Given the description of an element on the screen output the (x, y) to click on. 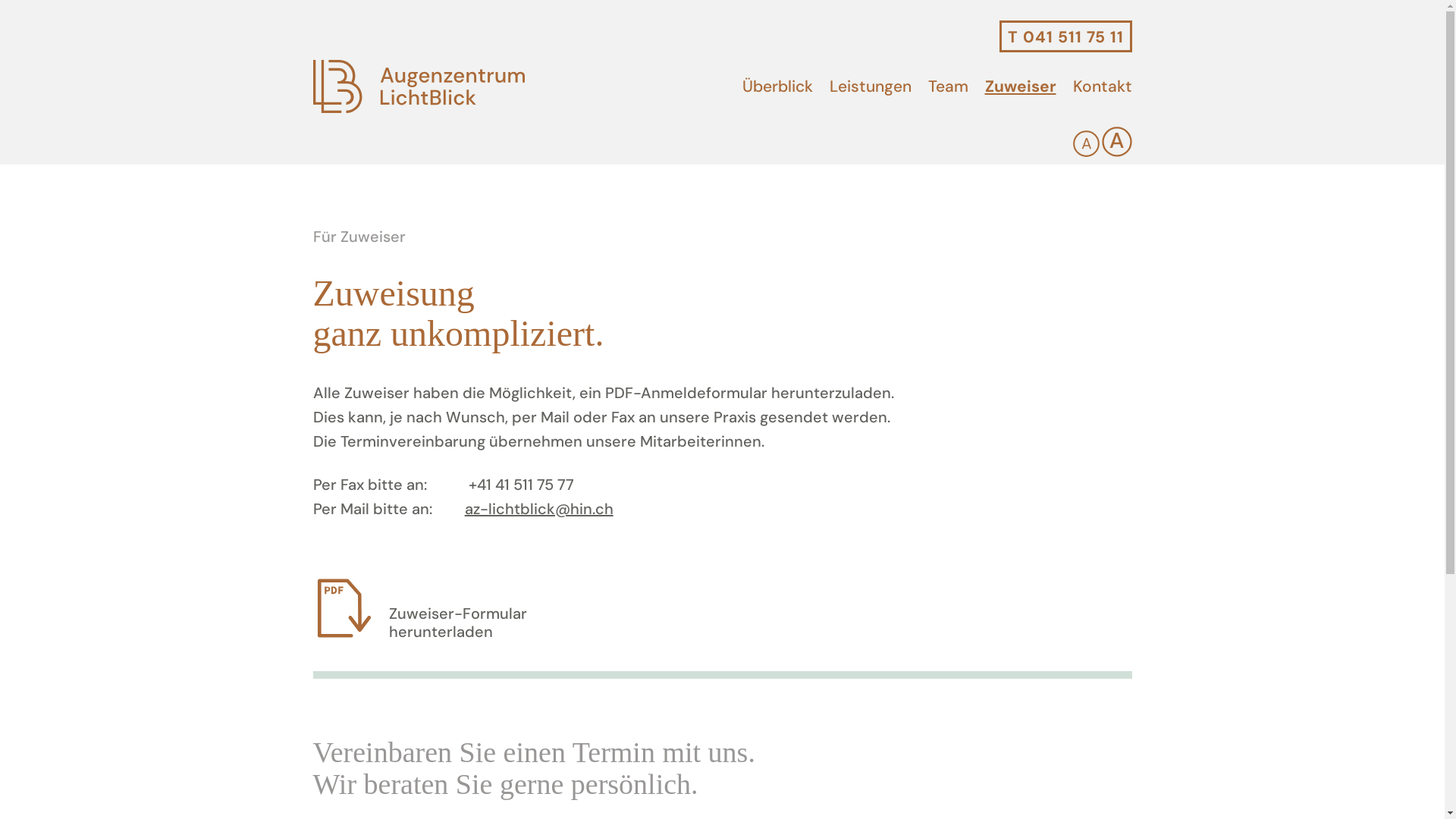
Zuweiser Element type: text (1019, 86)
Leistungen Element type: text (870, 86)
az-lichtblick@hin.ch Element type: text (538, 508)
Kontakt Element type: text (1101, 86)
Team Element type: text (948, 86)
